Given the description of an element on the screen output the (x, y) to click on. 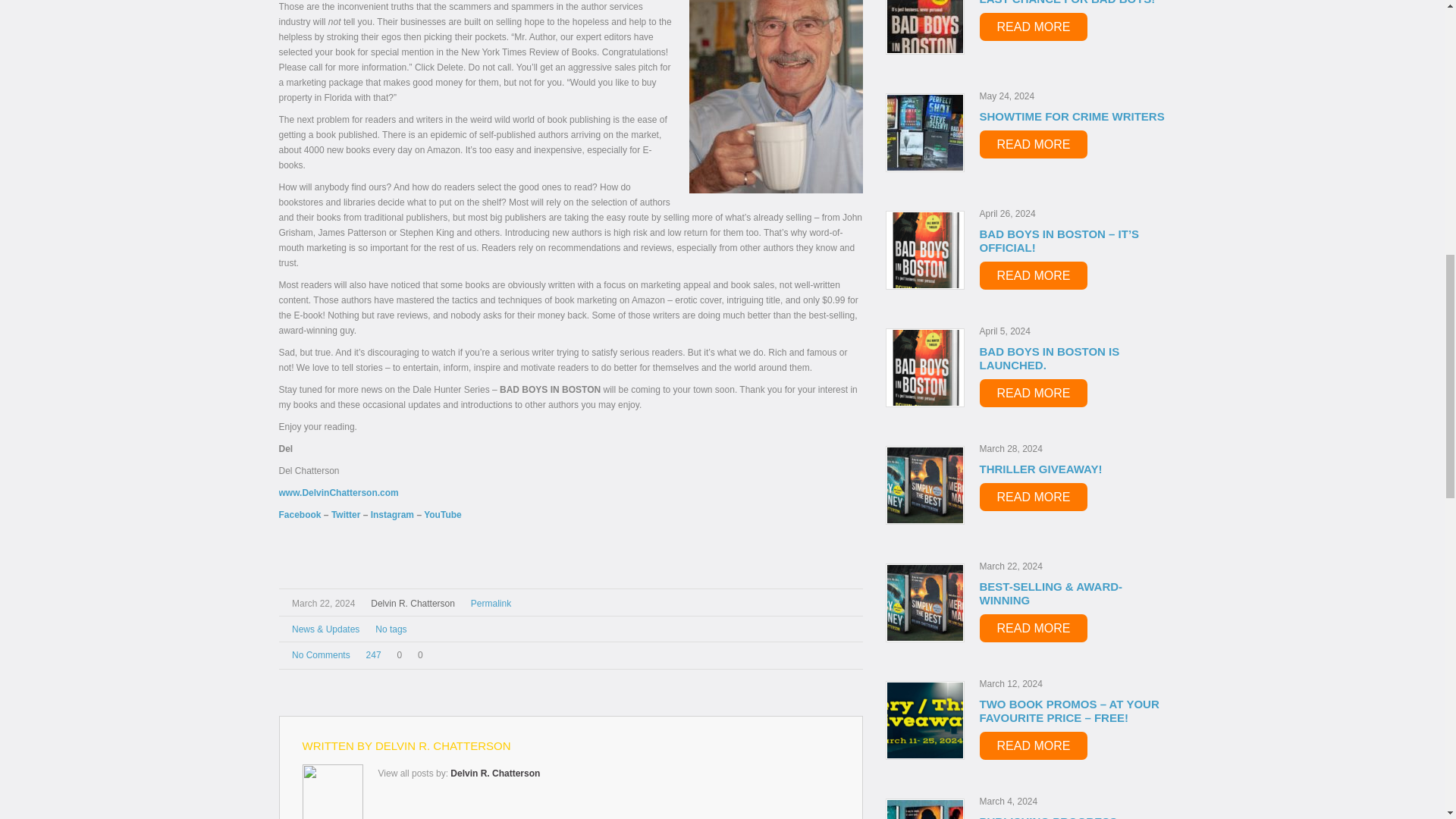
Permalink (490, 603)
DELVIN R. CHATTERSON (443, 745)
Delvin R. Chatterson (494, 773)
Twitter (345, 514)
Only registered users can vote! (396, 655)
Number of view. (370, 654)
Posts by Delvin R. Chatterson (412, 603)
Last chance for BAD BOYS! (924, 26)
No Comments (321, 655)
YouTube (442, 514)
www.DelvinChatterson.com (338, 492)
Only registered users can vote! (417, 655)
Delvin R. Chatterson (412, 603)
Facebook  (301, 514)
Posts by Delvin R. Chatterson (443, 745)
